Given the description of an element on the screen output the (x, y) to click on. 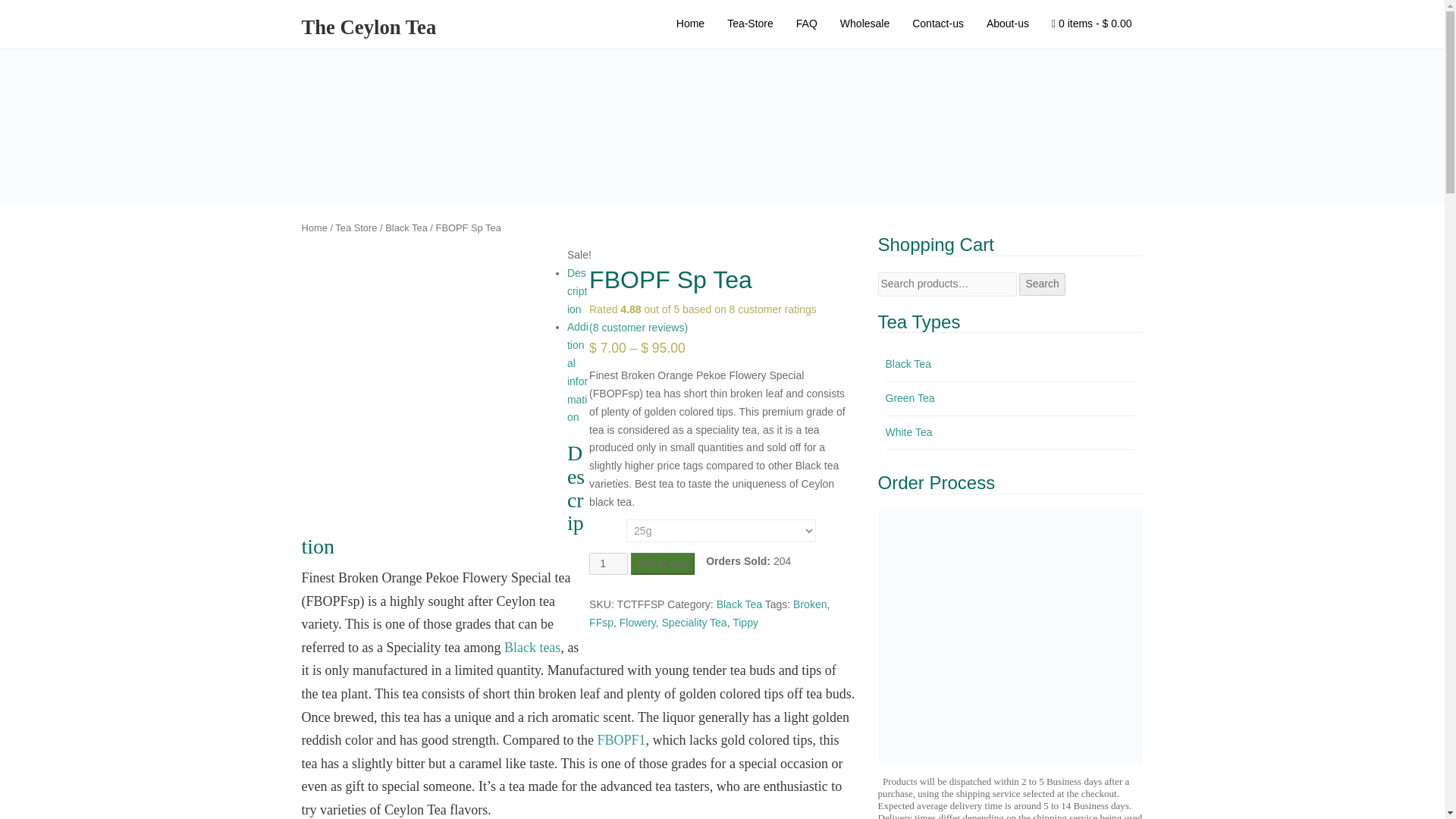
Add to cart (662, 563)
Tea-Store (750, 24)
FFsp (600, 622)
Home (690, 24)
Search (1041, 283)
About-us (1008, 24)
Black Tea (406, 227)
Wholesale (864, 24)
1 (608, 563)
Black teas (531, 647)
